Given the description of an element on the screen output the (x, y) to click on. 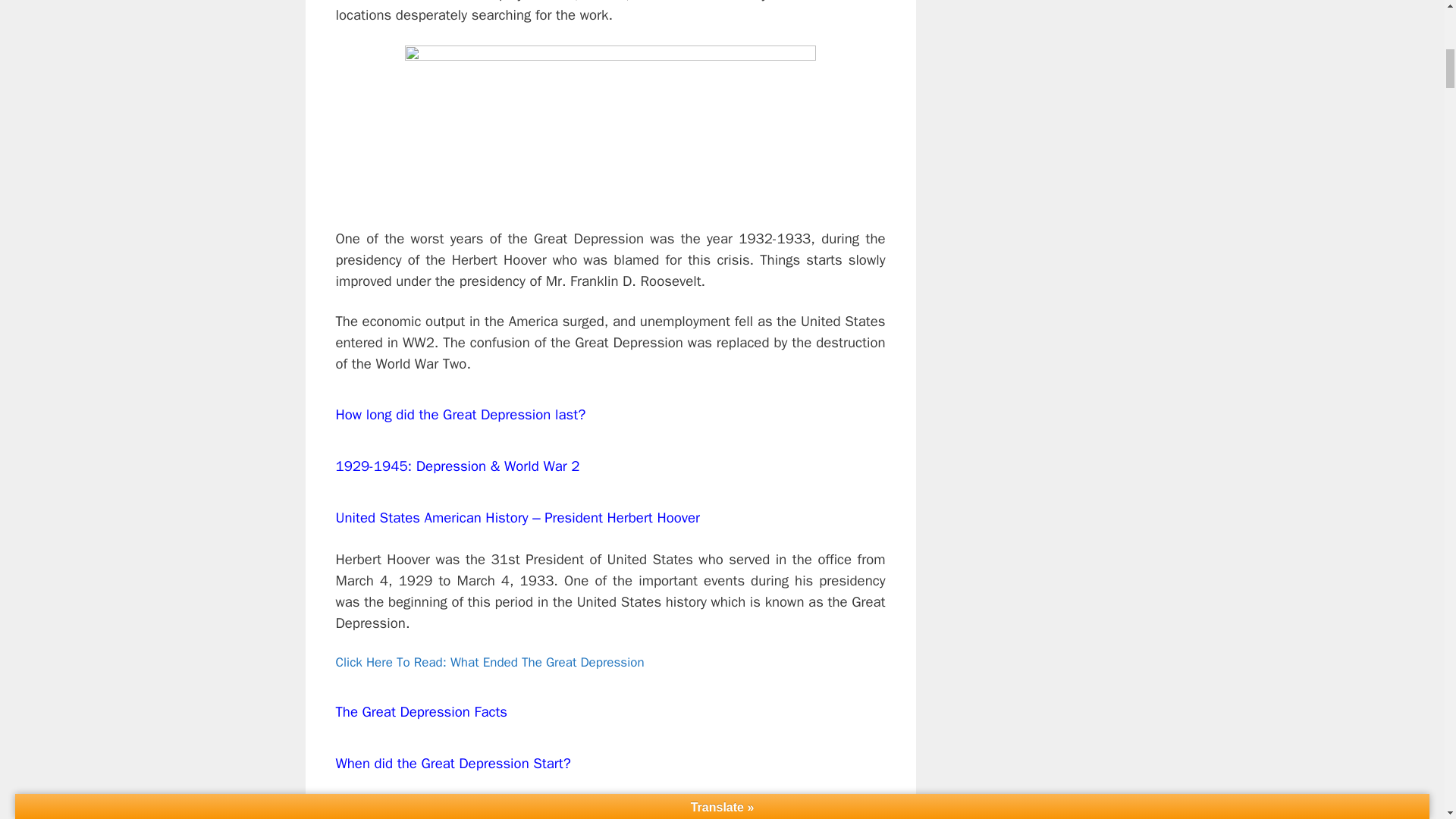
Scroll back to top (1406, 720)
Click Here To Read: What Ended The Great Depression (488, 662)
